Given the description of an element on the screen output the (x, y) to click on. 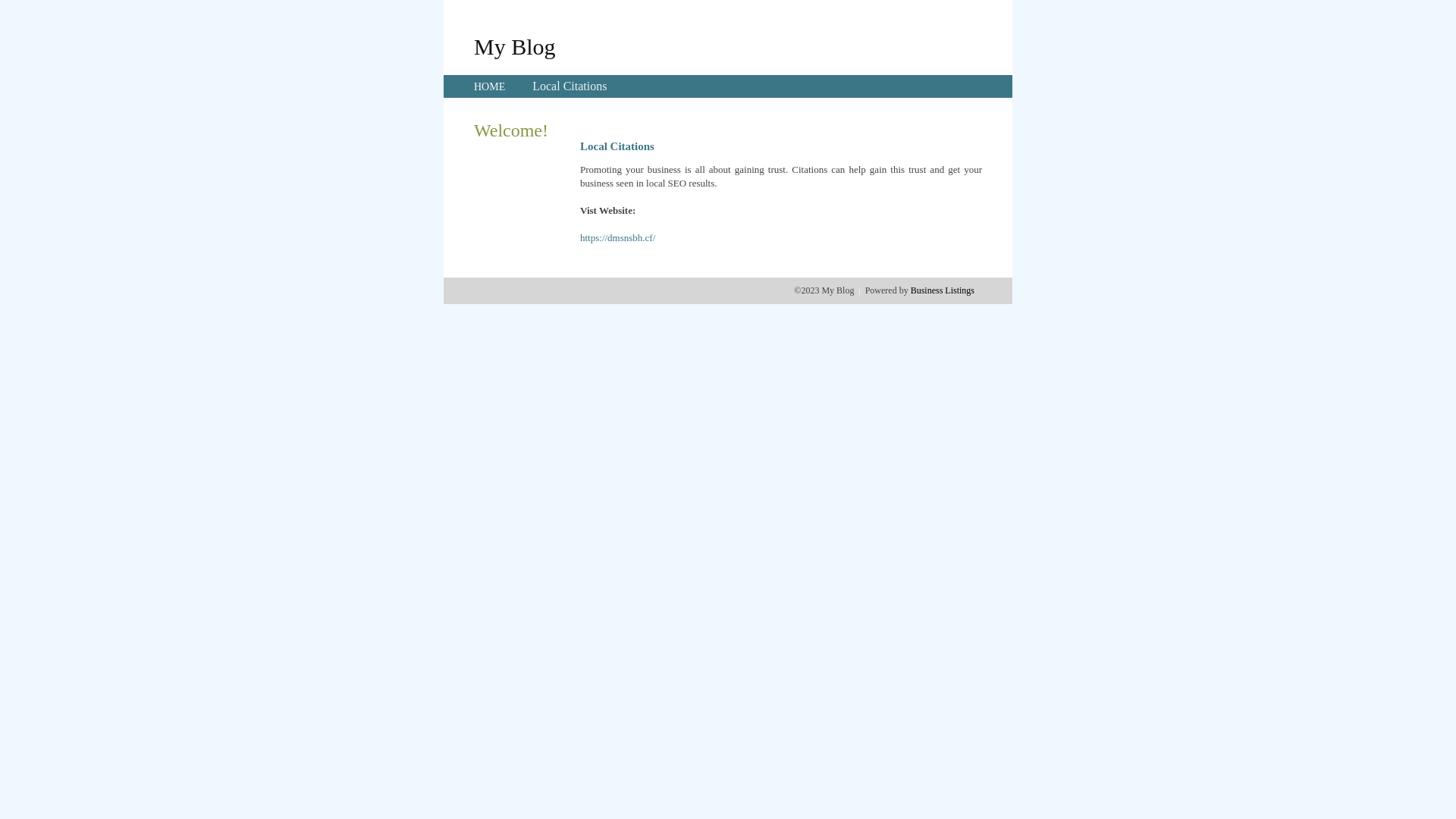
Local Citations Element type: text (569, 85)
My Blog Element type: text (514, 46)
https://dmsnsbh.cf/ Element type: text (617, 237)
HOME Element type: text (489, 86)
Business Listings Element type: text (942, 290)
